Given the description of an element on the screen output the (x, y) to click on. 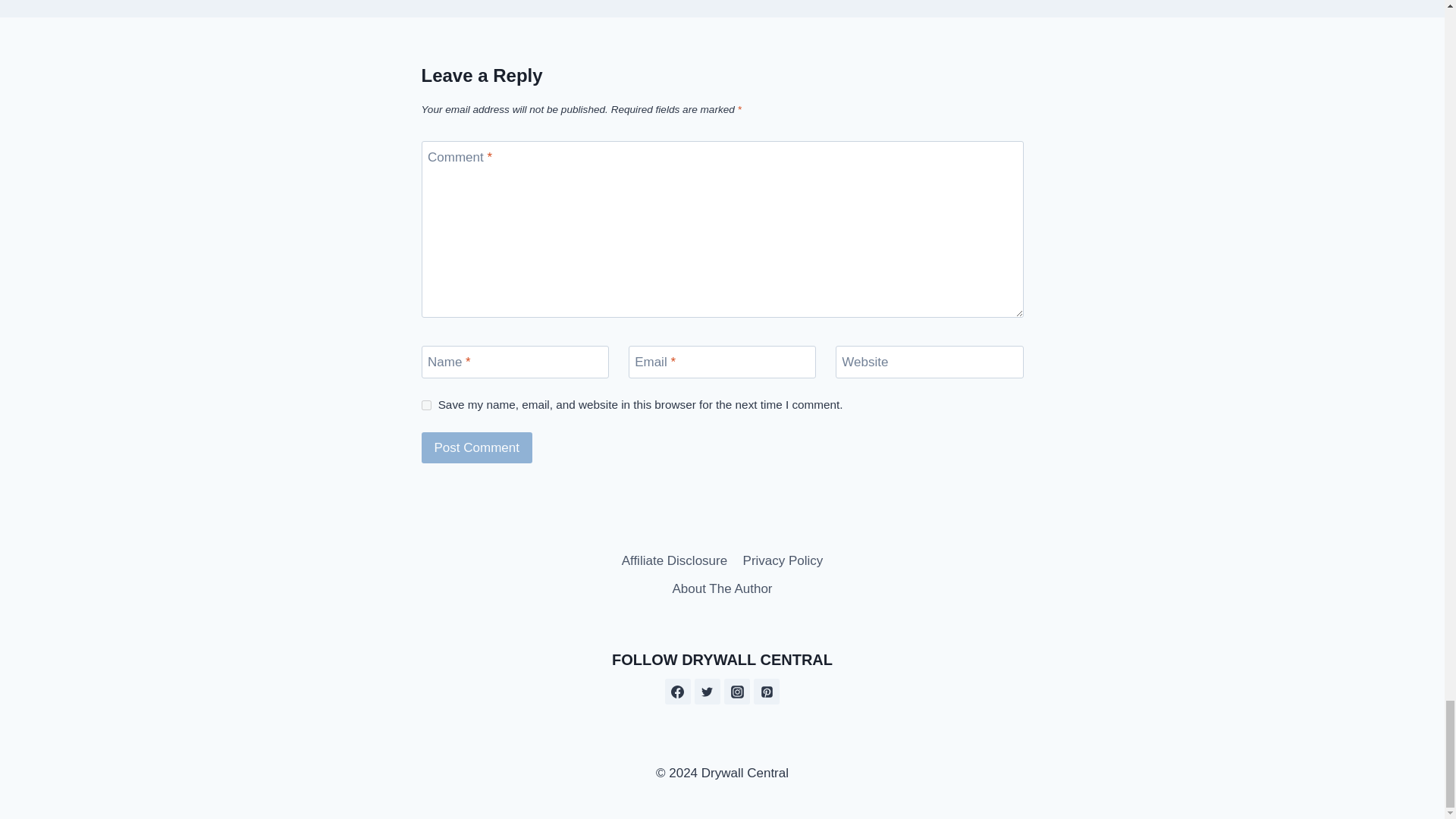
yes (426, 405)
Post Comment (477, 447)
